Given the description of an element on the screen output the (x, y) to click on. 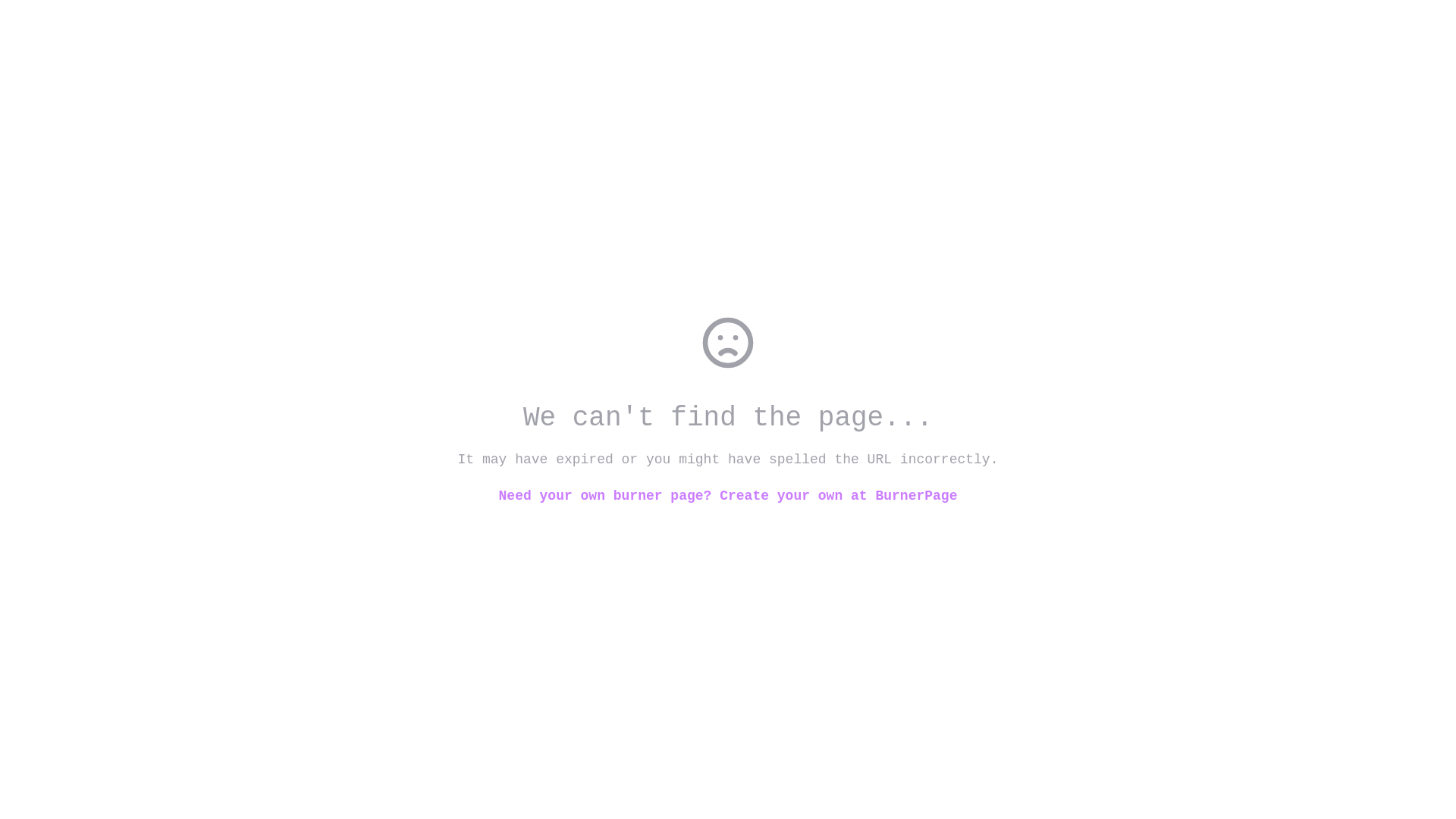
Need your own burner page? Create your own at BurnerPage Element type: text (727, 495)
